Given the description of an element on the screen output the (x, y) to click on. 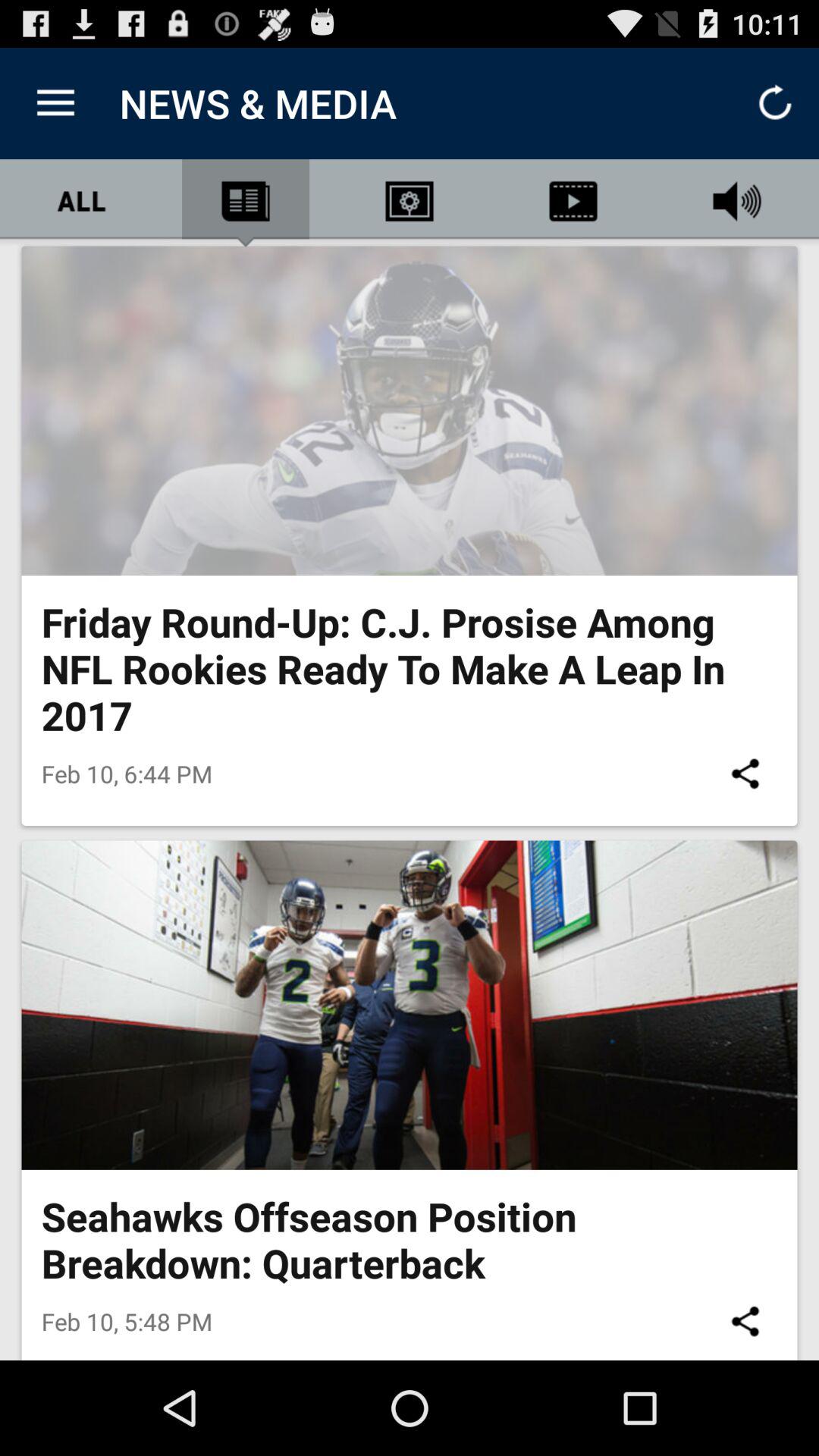
tap icon to the left of the news & media item (55, 103)
